Given the description of an element on the screen output the (x, y) to click on. 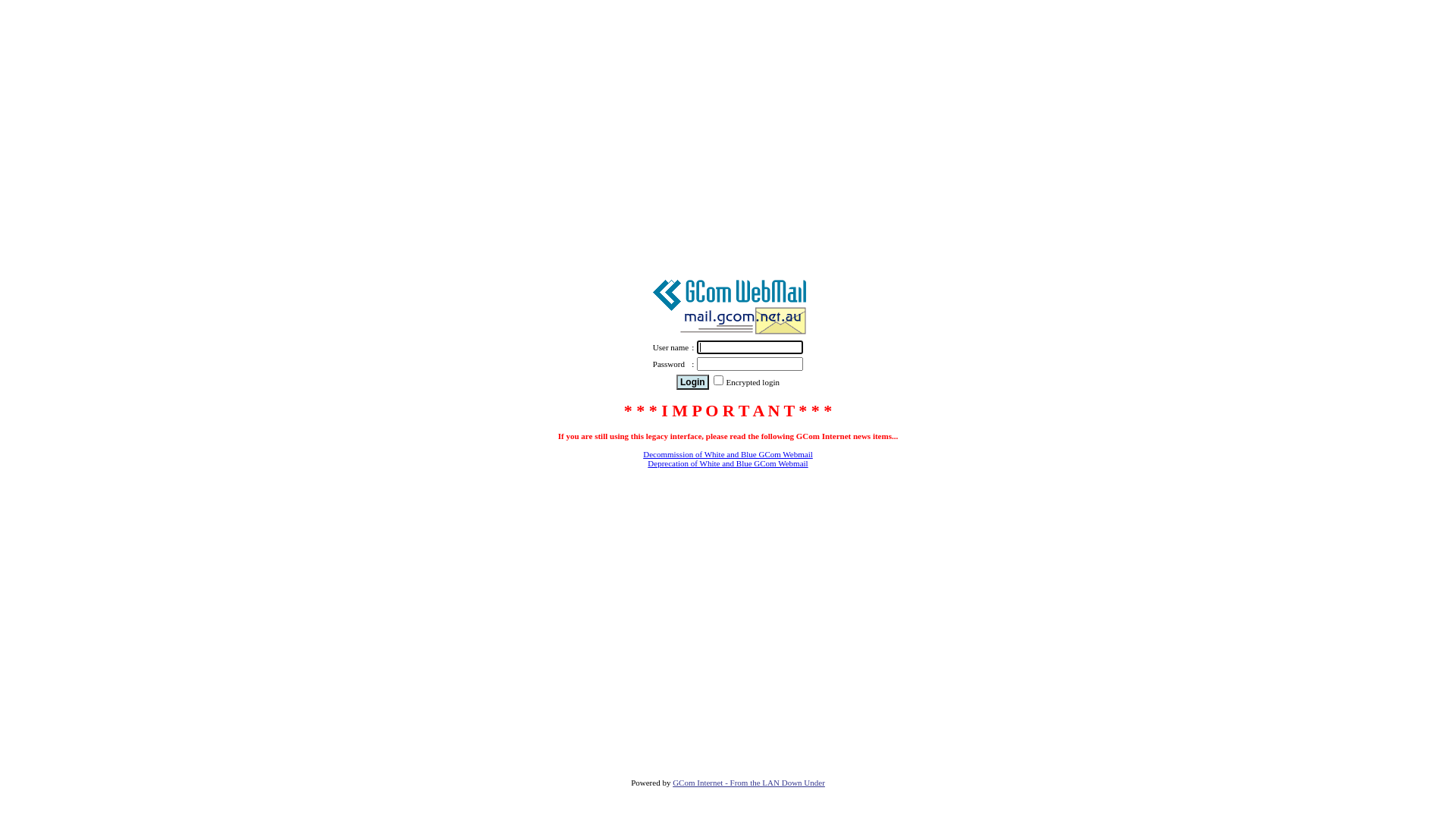
Decommission of White and Blue GCom Webmail Element type: text (727, 453)
Login Element type: text (692, 381)
Deprecation of White and Blue GCom Webmail Element type: text (727, 462)
GCom Internet - From the LAN Down Under Element type: text (748, 782)
